Given the description of an element on the screen output the (x, y) to click on. 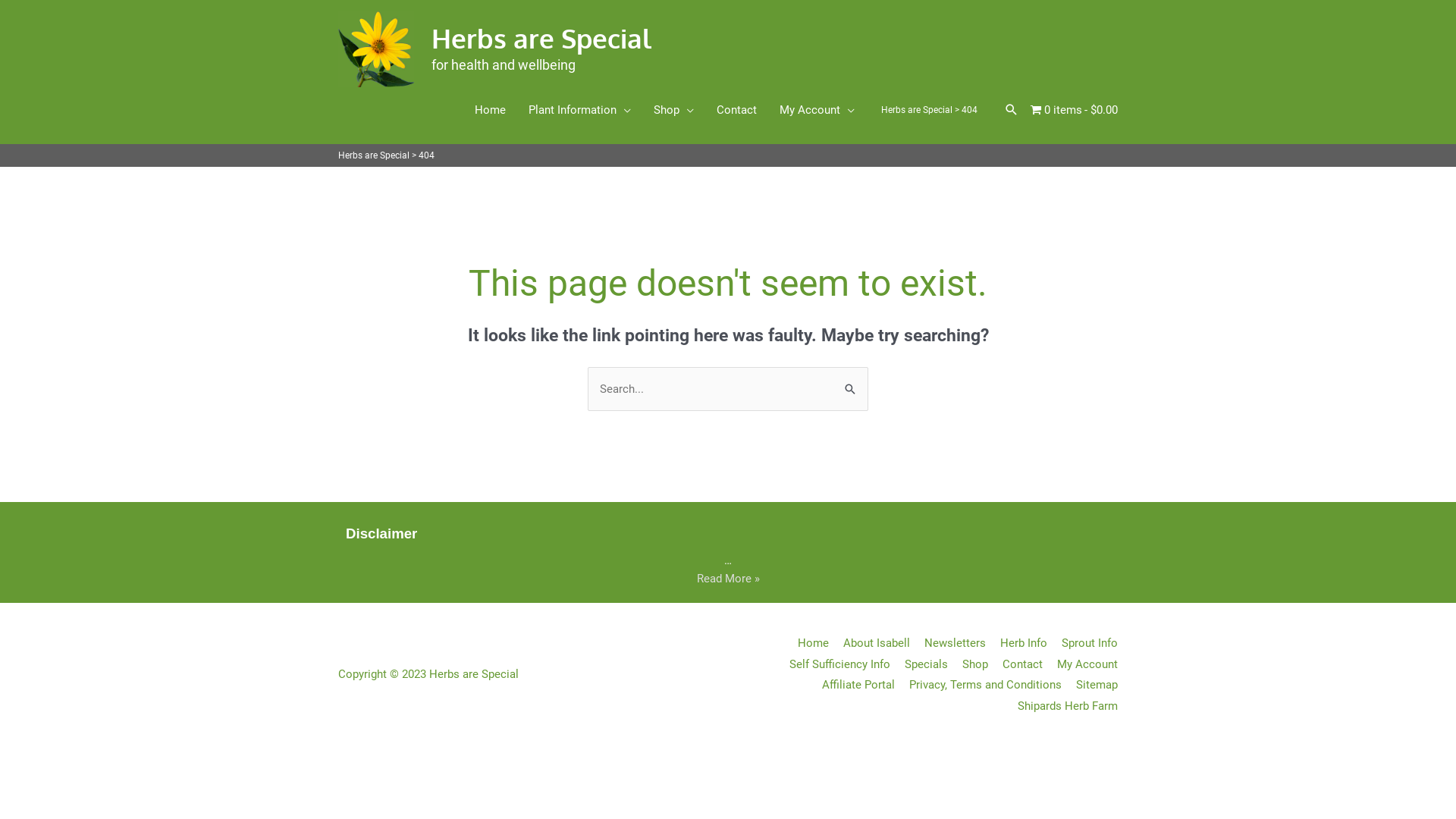
Plant Information Element type: text (579, 109)
Sprout Info Element type: text (1083, 642)
Herbs are Special Element type: text (916, 109)
Affiliate Portal Element type: text (852, 684)
Contact Element type: text (736, 109)
About Isabell Element type: text (870, 642)
My Account Element type: text (817, 109)
Sitemap Element type: text (1090, 684)
Herbs are Special Element type: text (373, 155)
Shop Element type: text (969, 664)
Shipards Herb Farm Element type: text (1061, 705)
Herbs are Special Element type: text (540, 37)
0 items$0.00 Element type: text (1073, 109)
Home Element type: text (490, 109)
Herb Info Element type: text (1017, 642)
Home Element type: text (807, 642)
Self Sufficiency Info Element type: text (834, 664)
Search Element type: text (851, 387)
Specials Element type: text (920, 664)
Privacy, Terms and Conditions Element type: text (979, 684)
Contact Element type: text (1016, 664)
My Account Element type: text (1081, 664)
Search Element type: text (1011, 109)
Shop Element type: text (673, 109)
Newsletters Element type: text (949, 642)
